Given the description of an element on the screen output the (x, y) to click on. 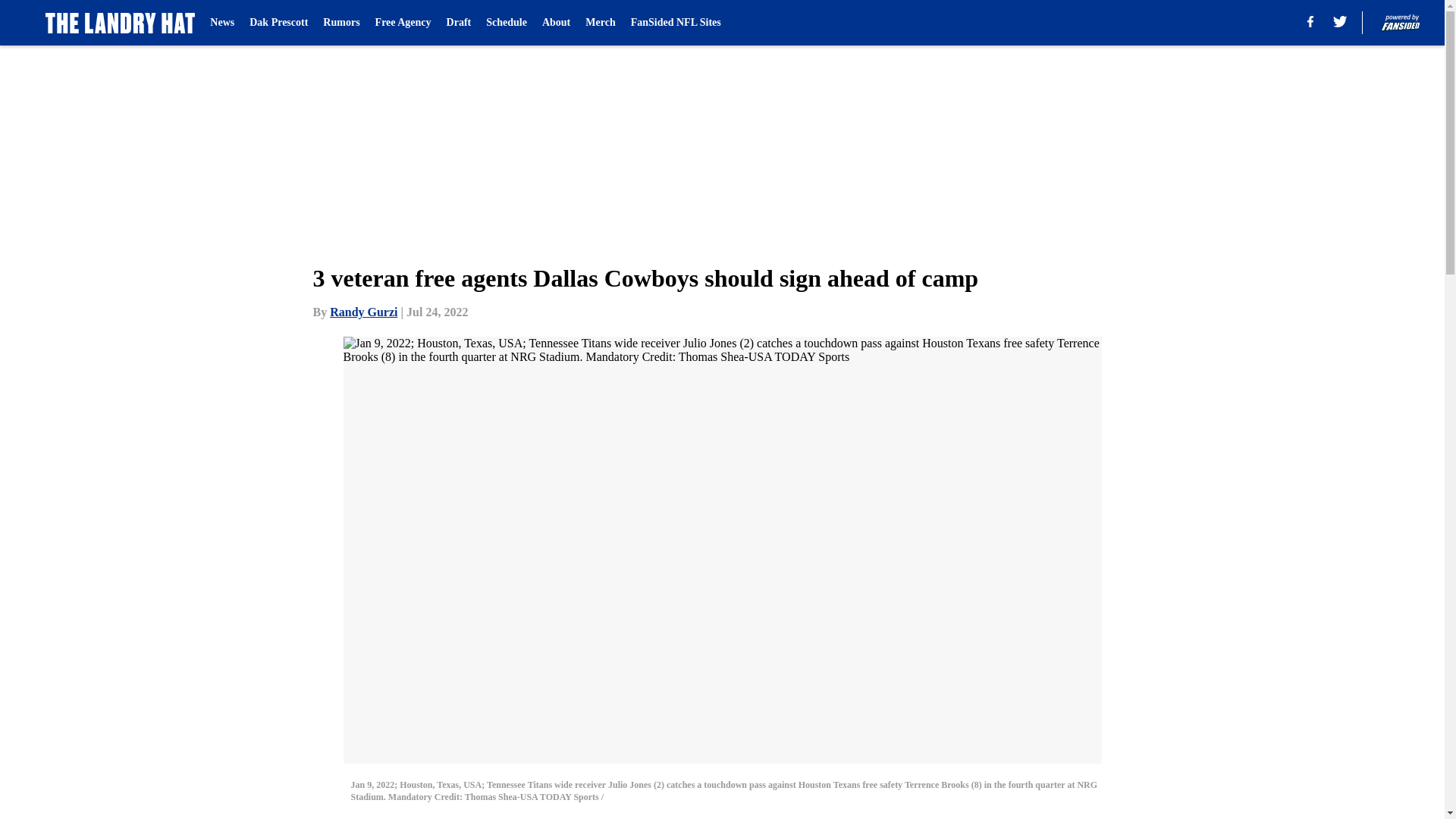
Dak Prescott (277, 22)
Free Agency (402, 22)
Rumors (341, 22)
Merch (599, 22)
Draft (458, 22)
FanSided NFL Sites (675, 22)
Schedule (506, 22)
News (221, 22)
Randy Gurzi (363, 311)
About (555, 22)
